Given the description of an element on the screen output the (x, y) to click on. 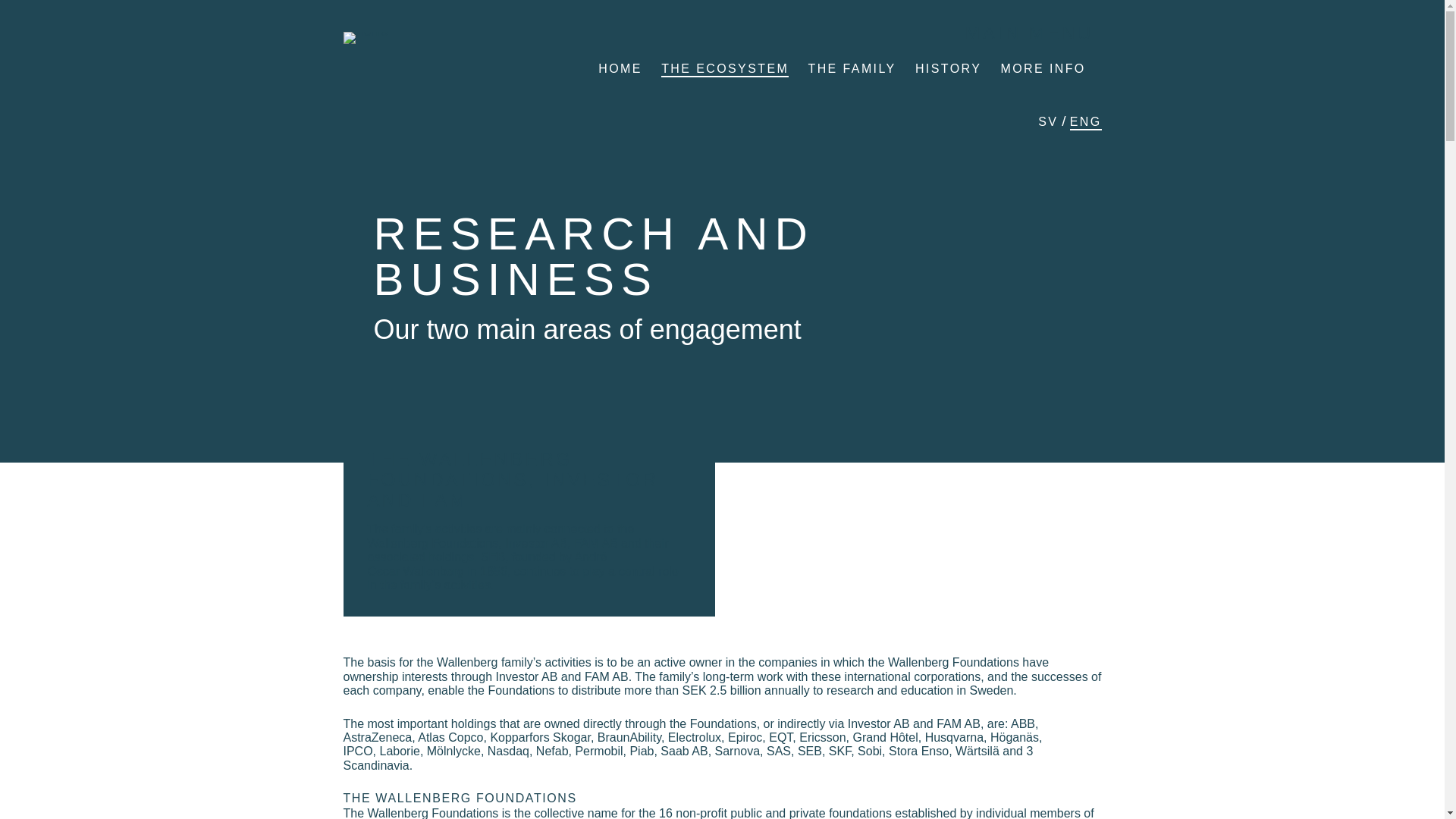
THE ECOSYSTEM (725, 69)
Home (430, 37)
THE FAMILY (851, 69)
MORE INFO (1042, 69)
ENG (1086, 123)
HISTORY (948, 69)
HOME (620, 69)
SV (1048, 122)
